Given the description of an element on the screen output the (x, y) to click on. 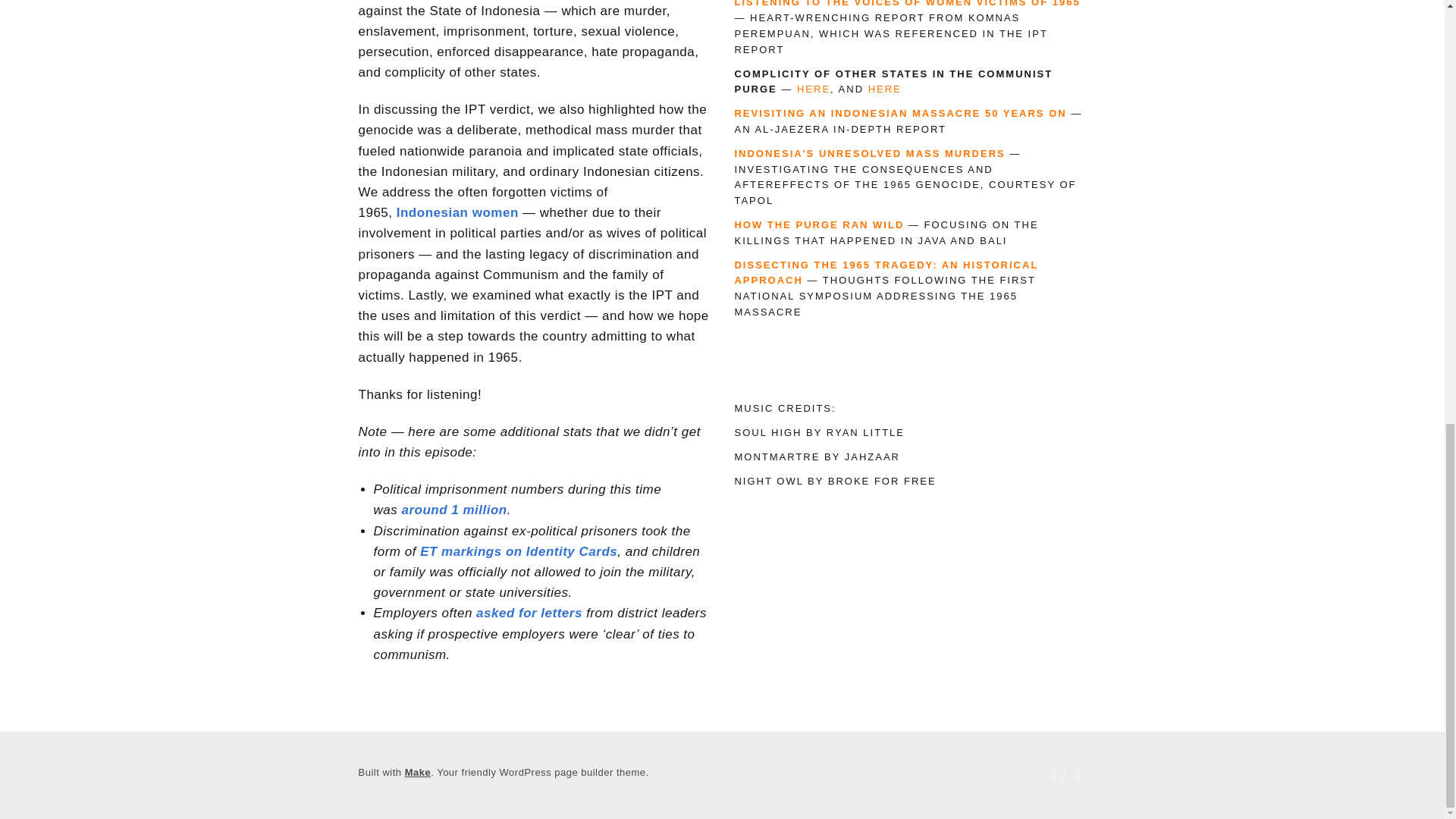
HERE (812, 89)
TAPOL (753, 200)
REVISITING AN INDONESIAN MASSACRE 50 YEARS ON (899, 112)
BROKE FOR FREE (882, 480)
HERE (884, 89)
NIGHT OWL (768, 480)
LISTENING TO THE VOICES OF WOMEN VICTIMS OF 1965 (906, 3)
ET markings on Identity Cards (518, 551)
DISSECTING THE 1965 TRAGEDY: AN HISTORICAL APPROACH (885, 272)
MONTMARTRE (776, 456)
